Given the description of an element on the screen output the (x, y) to click on. 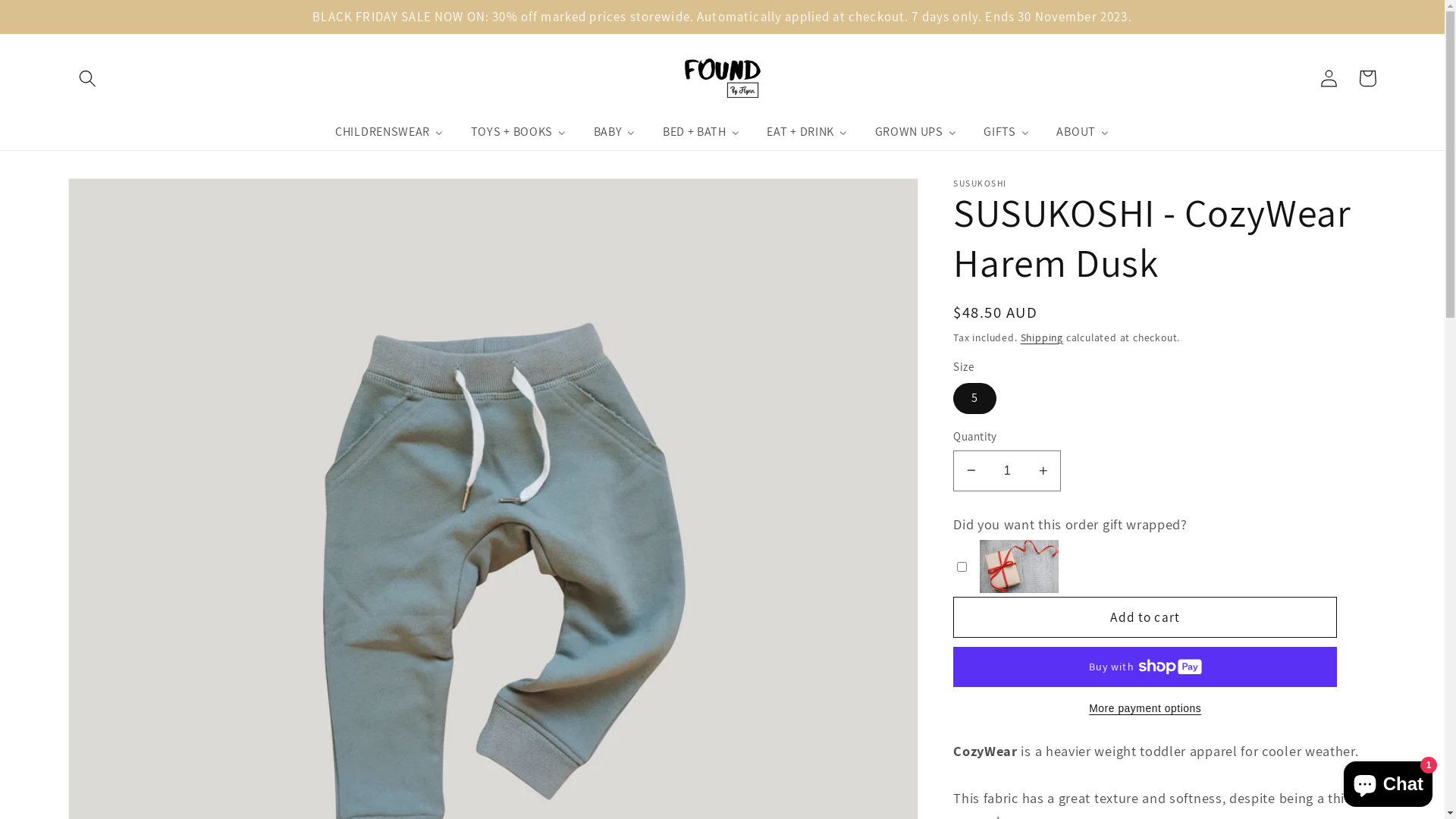
More payment options Element type: text (1144, 708)
Log in Element type: text (1329, 78)
Shopify online store chat Element type: hover (1388, 780)
CHILDRENSWEAR Element type: text (389, 131)
BABY Element type: text (614, 131)
BED + BATH Element type: text (701, 131)
TOYS + BOOKS Element type: text (518, 131)
Skip to product information Element type: text (120, 197)
Decrease quantity for SUSUKOSHI - CozyWear Harem Dusk Element type: text (970, 470)
EAT + DRINK Element type: text (807, 131)
Cart Element type: text (1367, 78)
Shipping Element type: text (1041, 337)
ABOUT Element type: text (1083, 131)
Increase quantity for SUSUKOSHI - CozyWear Harem Dusk Element type: text (1043, 470)
GIFTS Element type: text (1006, 131)
GROWN UPS Element type: text (915, 131)
Add to cart Element type: text (1144, 616)
